Given the description of an element on the screen output the (x, y) to click on. 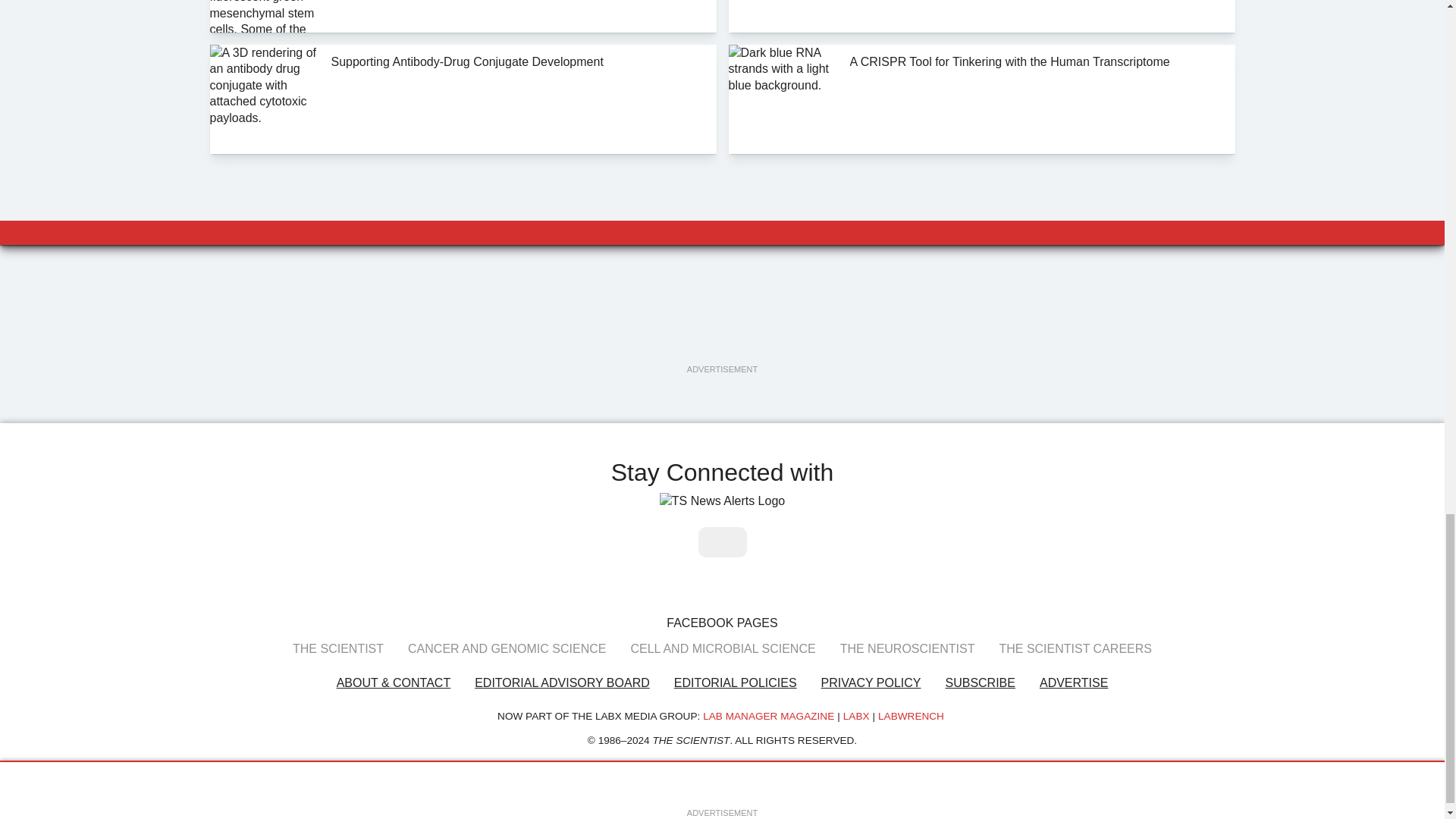
An illustration of a B cell secreting autoantibodies. (782, 16)
Dark blue RNA strands with a light blue background. (782, 99)
